Given the description of an element on the screen output the (x, y) to click on. 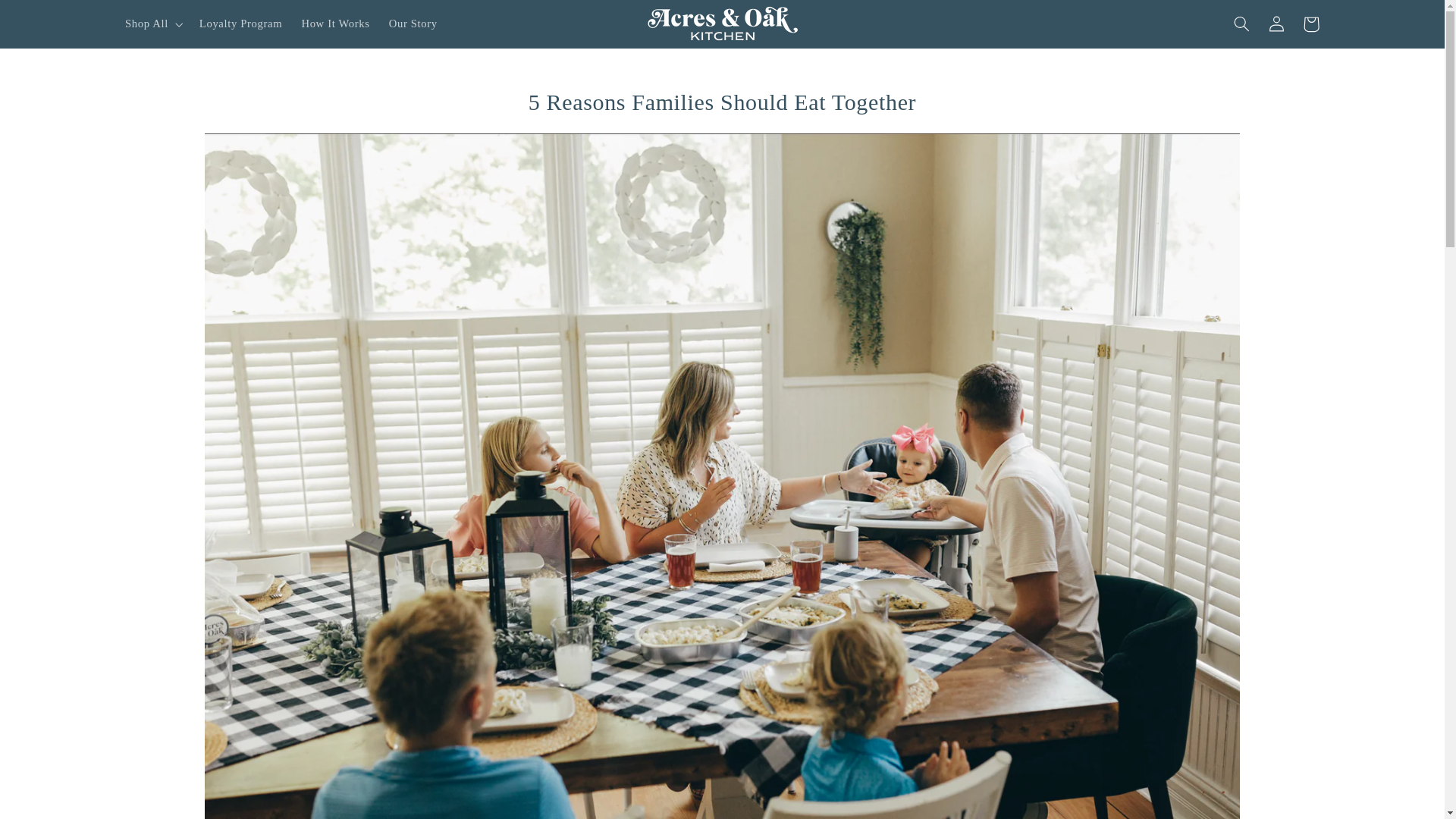
Cart (1310, 23)
Loyalty Program (240, 23)
Log In (1276, 23)
How It Works (335, 23)
Skip to Content (47, 17)
Our Story (412, 23)
5 Reasons Families Should Eat Together (721, 102)
